Given the description of an element on the screen output the (x, y) to click on. 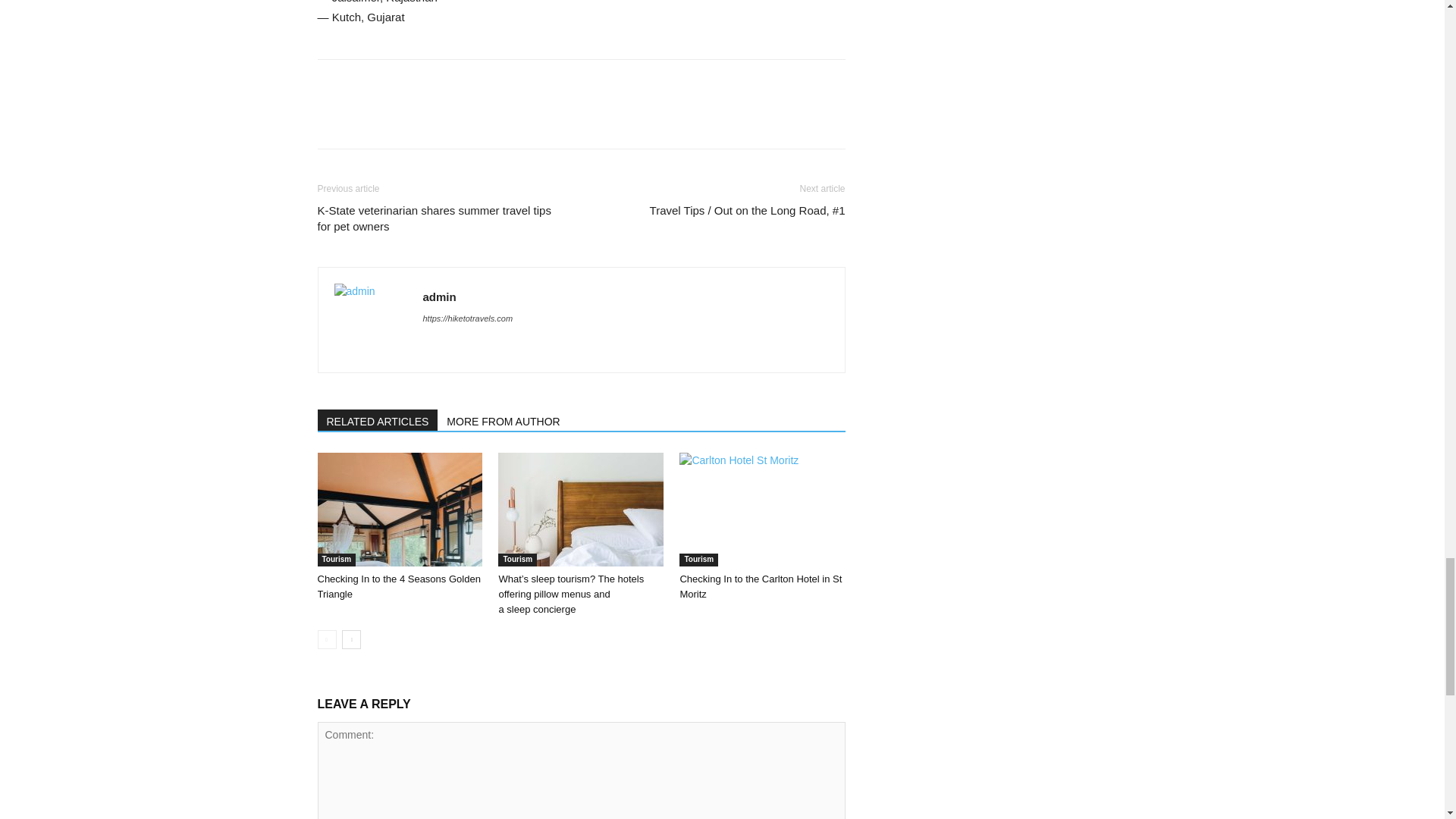
bottomFacebookLike (430, 83)
